Given the description of an element on the screen output the (x, y) to click on. 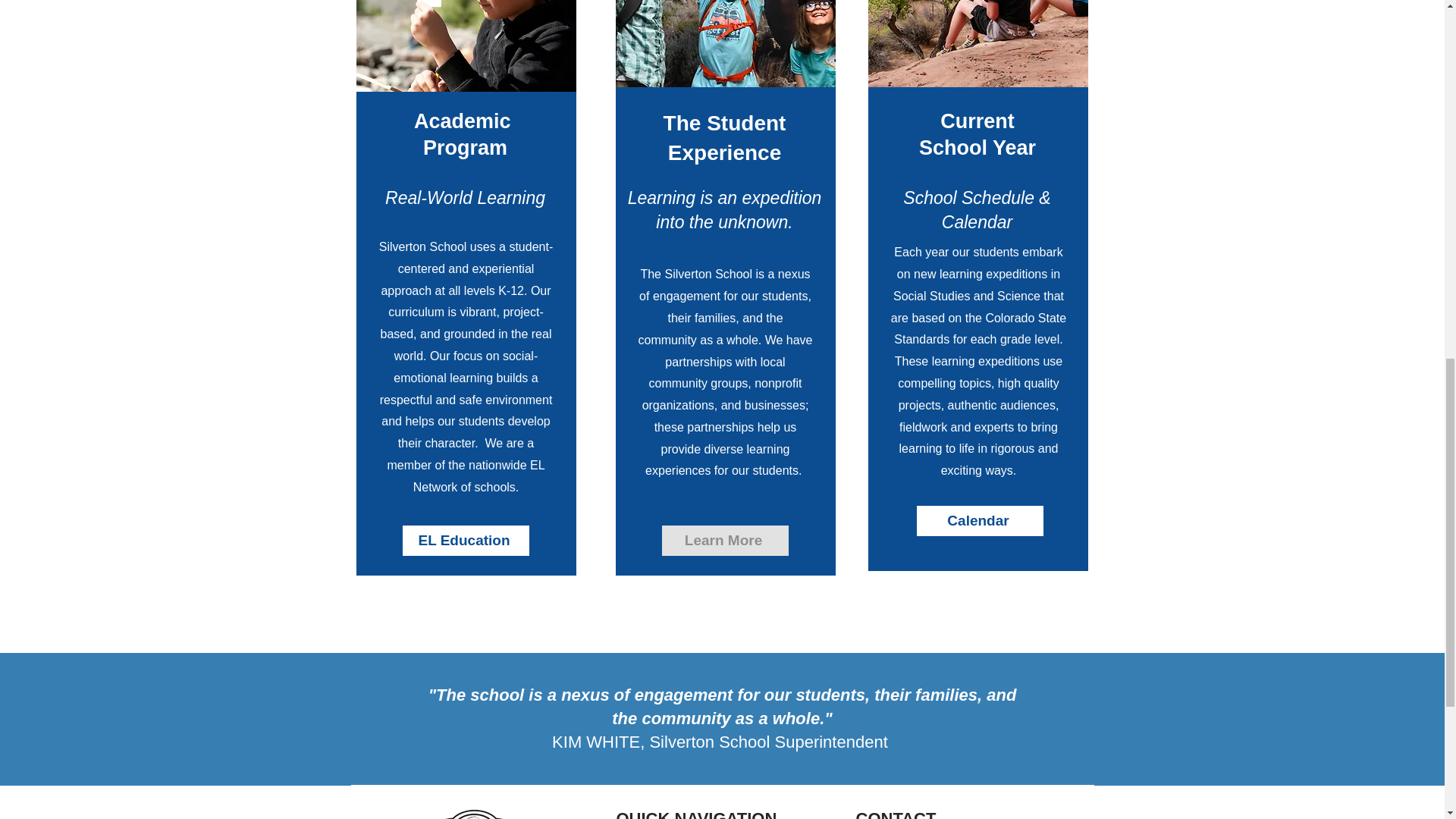
EL Education (464, 539)
Calendar (978, 521)
Learn More (724, 540)
